Given the description of an element on the screen output the (x, y) to click on. 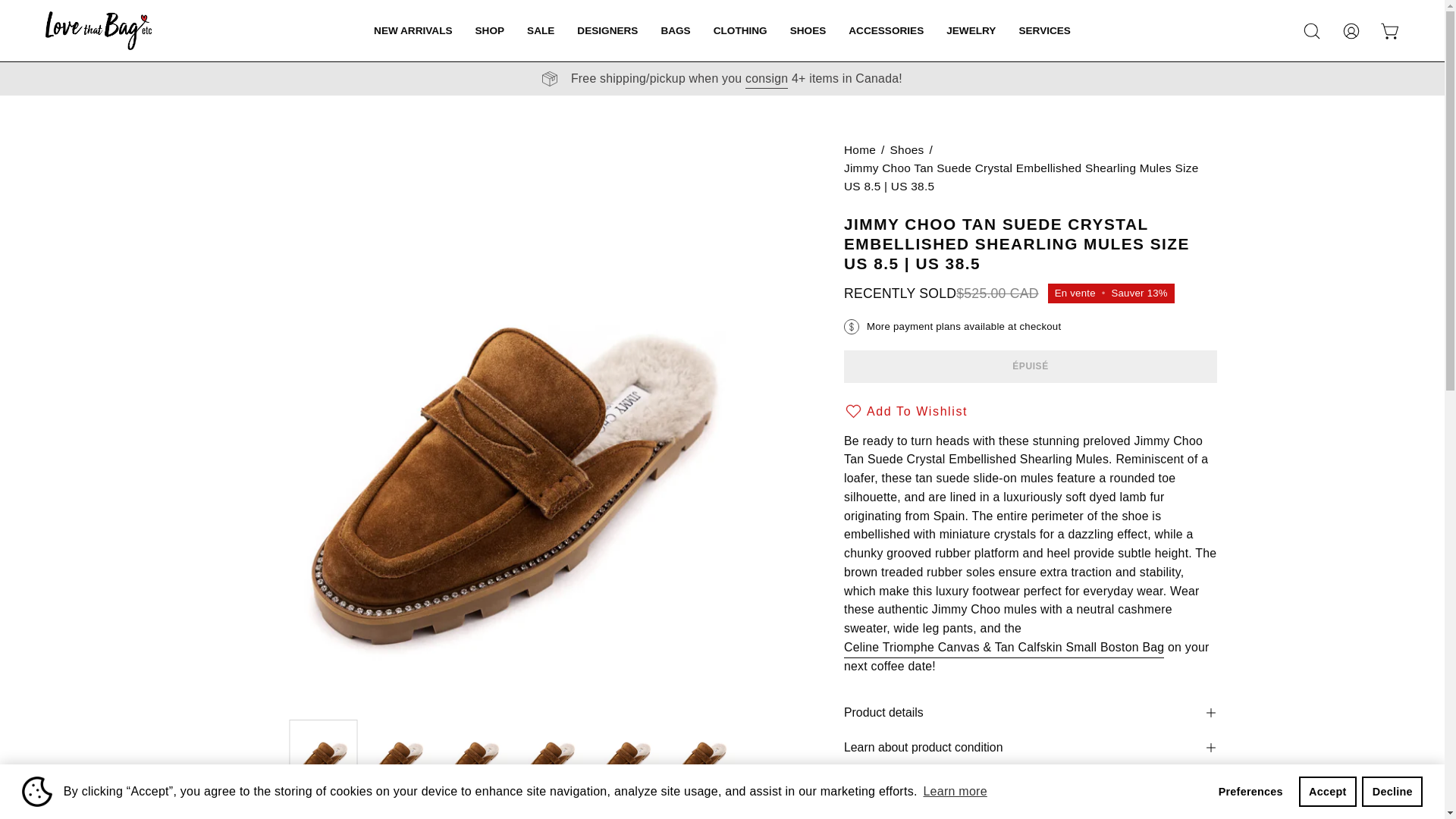
Preferences (1250, 791)
Learn about luxury consignment in Canada (766, 78)
Ouvrir la barre de recherche (1311, 30)
Accept (1327, 791)
Retour a la page d'acceuil (860, 149)
Decline (1391, 791)
Learn more (955, 791)
